Given the description of an element on the screen output the (x, y) to click on. 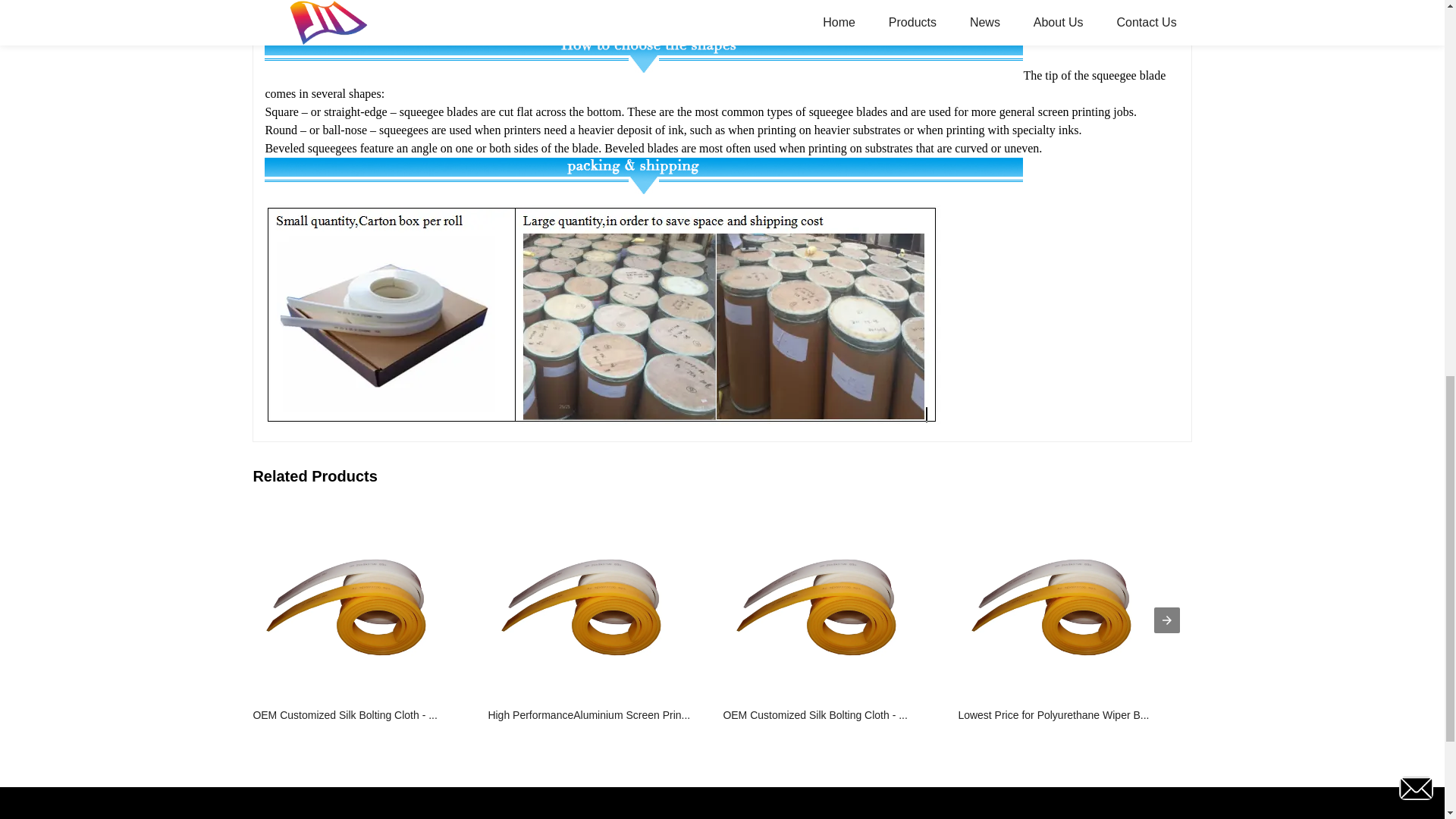
High PerformanceAluminium Screen Prin... (591, 620)
Lowest Price for Polyurethane Wiper B... (1062, 620)
Factory made hot-sale Plastic Filter ... (1296, 620)
OEM Customized Silk Bolting Cloth - ... (826, 620)
OEM Customized Silk Bolting Cloth - ... (356, 620)
Next item in carousel (1166, 620)
